Given the description of an element on the screen output the (x, y) to click on. 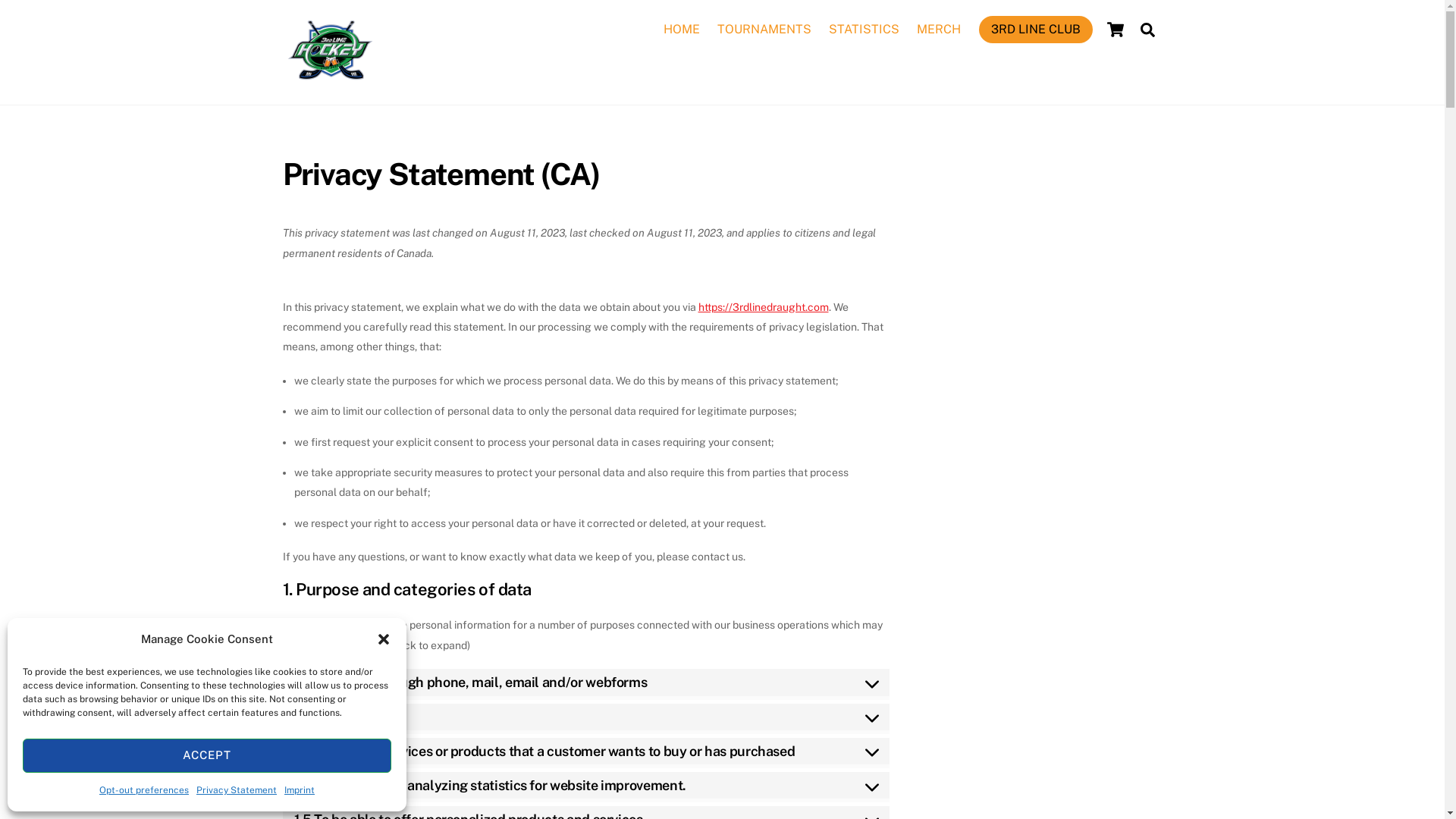
Privacy Statement Element type: text (236, 790)
HOME Element type: text (680, 29)
Opt-out preferences Element type: text (143, 790)
Search Element type: text (1147, 28)
https://3rdlinedraught.com Element type: text (762, 306)
STATISTICS Element type: text (864, 29)
Cart Element type: text (1114, 29)
3rd-line-hockey-logo Element type: hover (329, 49)
Imprint Element type: text (299, 790)
3rd Line Hockey Element type: hover (329, 80)
MERCH Element type: text (939, 29)
3RD LINE CLUB Element type: text (1035, 29)
TOURNAMENTS Element type: text (763, 29)
ACCEPT Element type: text (206, 755)
